Given the description of an element on the screen output the (x, y) to click on. 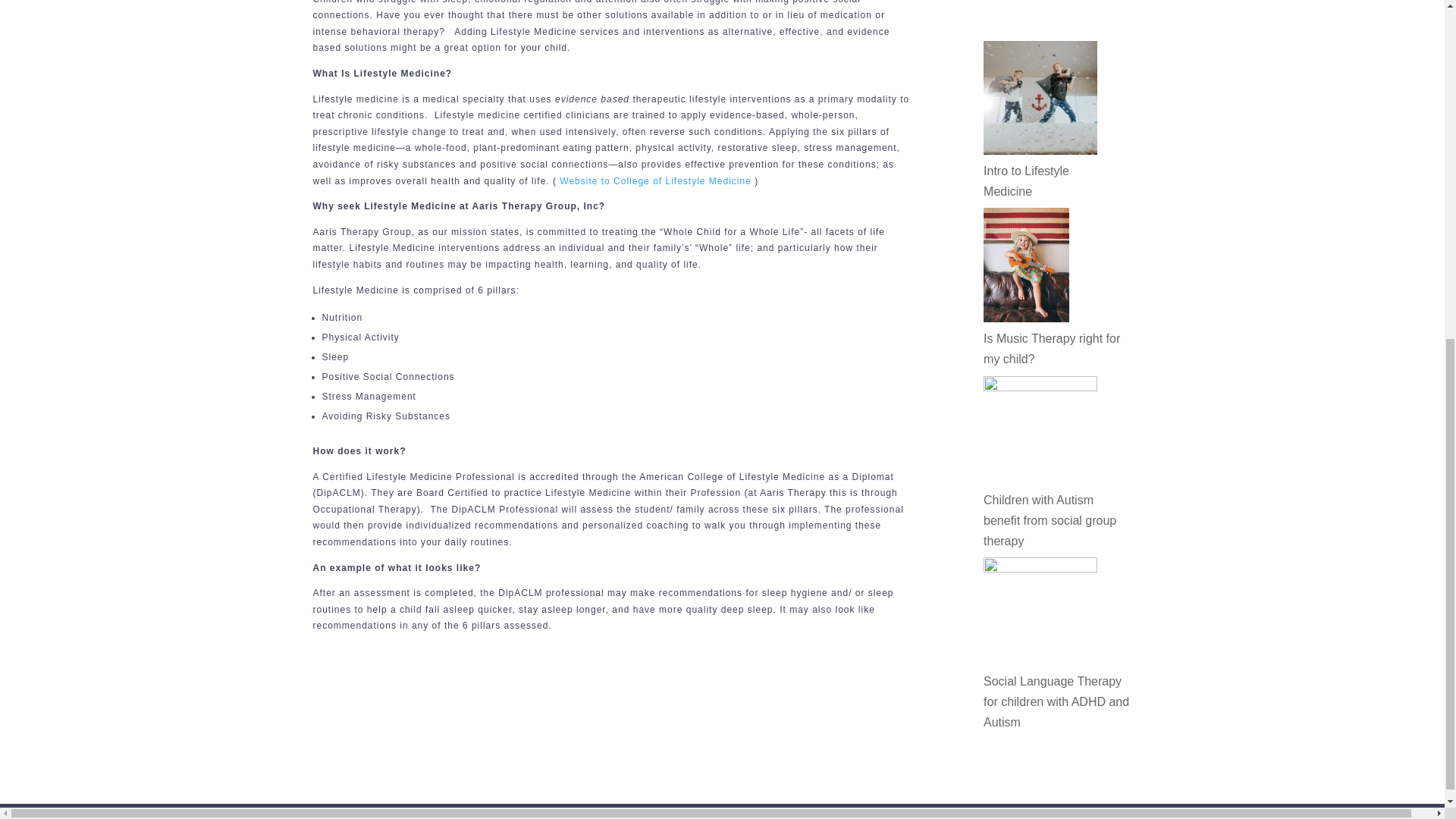
Intro to Lifestyle Medicine (1026, 181)
Website to College of Lifestyle Medicine (655, 181)
Social Language Therapy for children with ADHD and Autism (1056, 701)
Children with Autism benefit from social group therapy (1050, 520)
Is Music Therapy right for my child? (1051, 348)
